Given the description of an element on the screen output the (x, y) to click on. 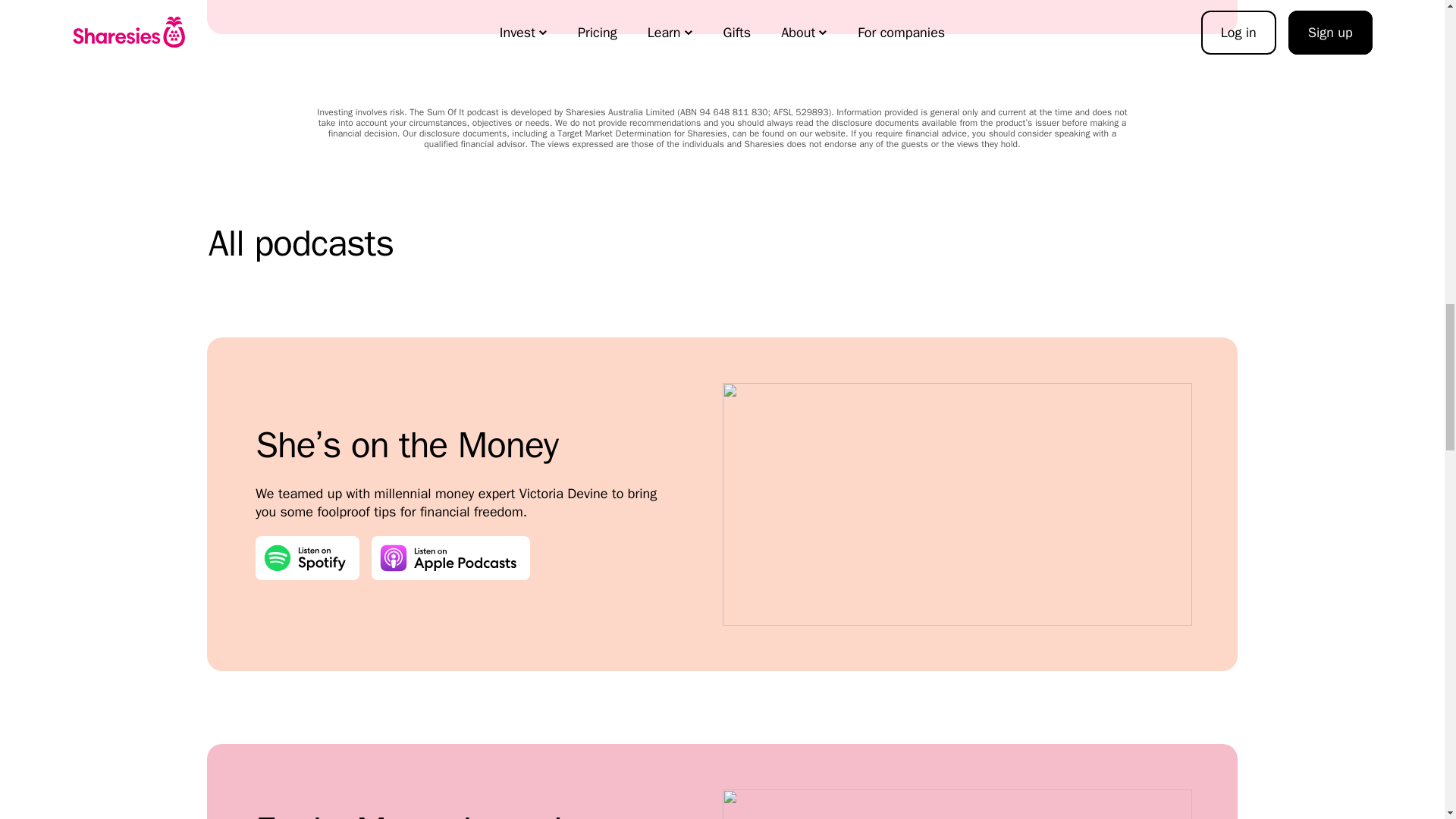
Listen to She's on the money on Apple podcasts (450, 557)
Listen to She's on the money podcast on Spotify (307, 557)
